Given the description of an element on the screen output the (x, y) to click on. 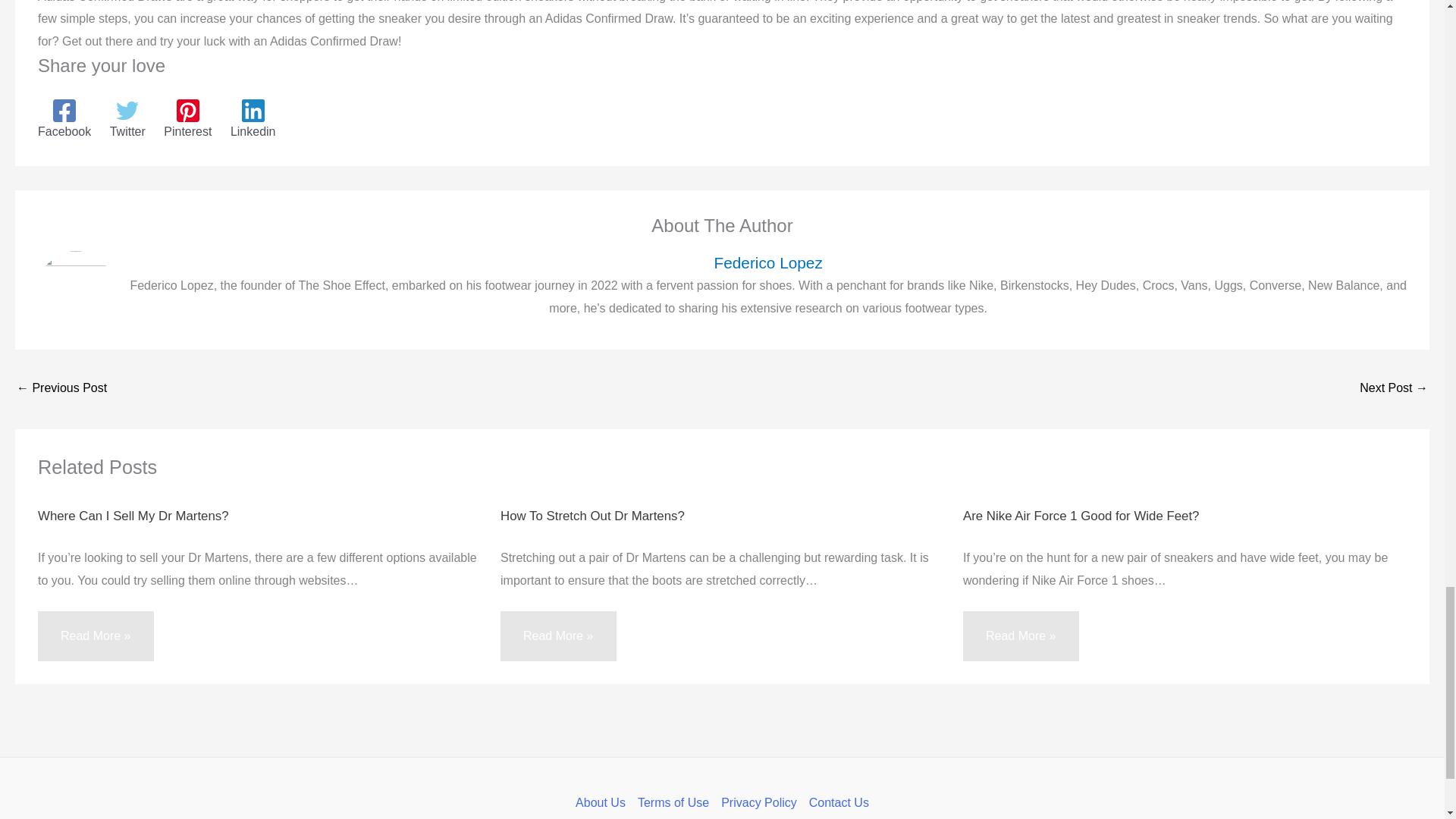
Terms of Use (672, 802)
Twitter (127, 118)
How many pairs of shoes should a woman own? (61, 389)
How To Stretch Out Dr Martens? (592, 515)
Linkedin (253, 118)
Where Can I Sell My Dr Martens? (132, 515)
About Us (603, 802)
Contact Us (836, 802)
Pinterest (187, 118)
Privacy Policy (758, 802)
